Given the description of an element on the screen output the (x, y) to click on. 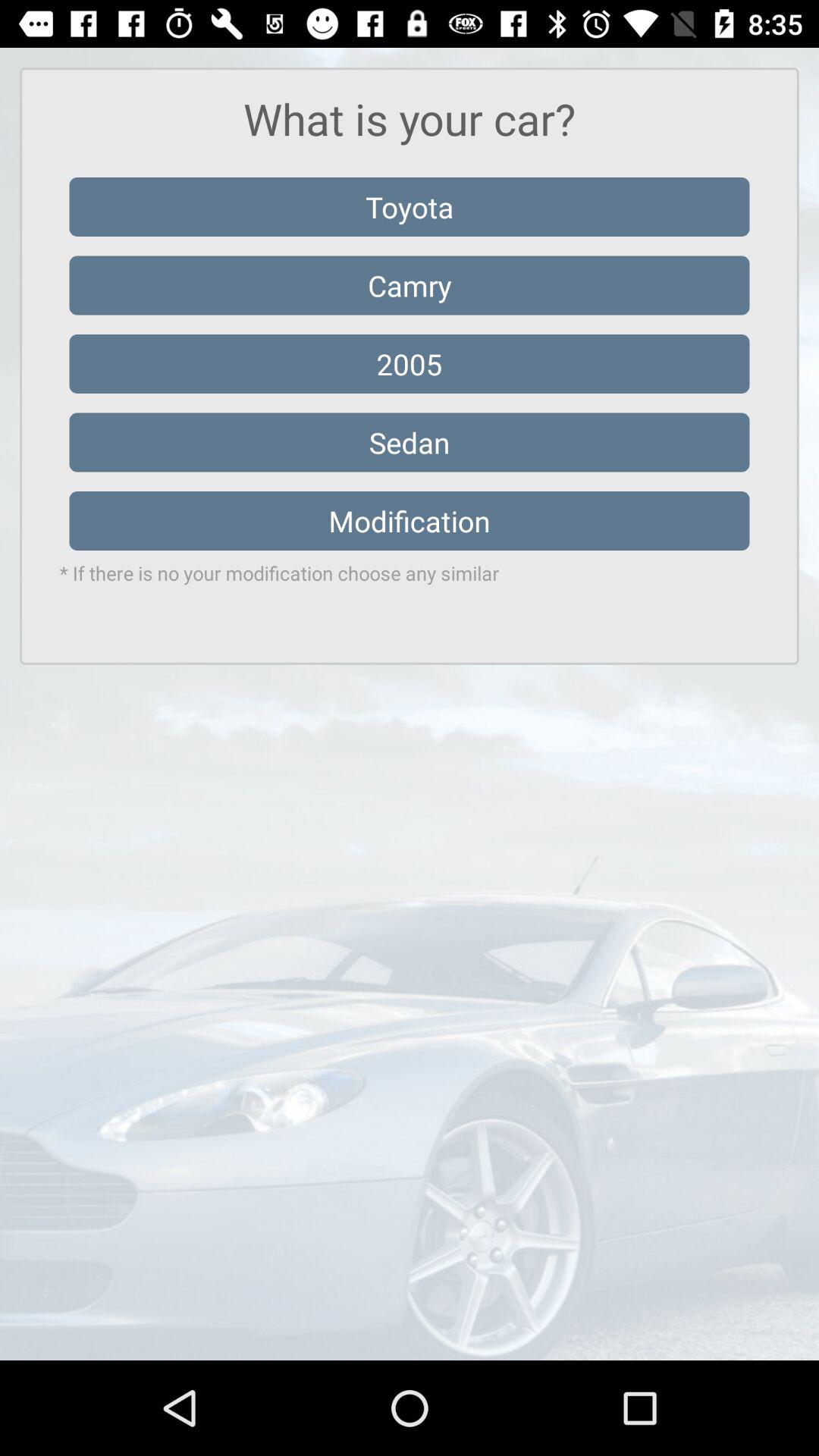
launch the toyota (409, 206)
